Given the description of an element on the screen output the (x, y) to click on. 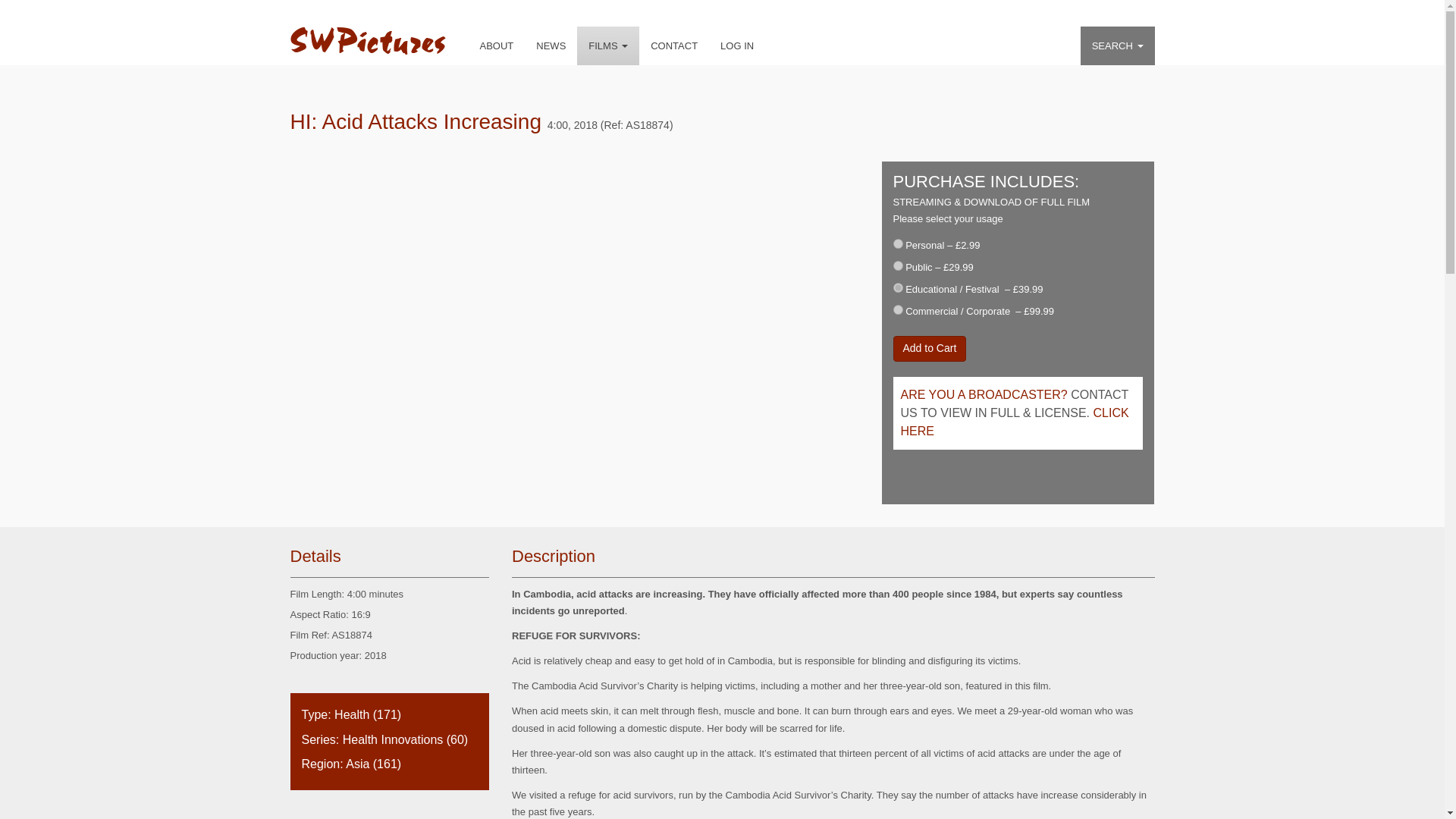
Add to Cart (929, 348)
Logout (737, 45)
LOG IN (737, 45)
3 (897, 287)
4 (897, 309)
SEARCH (1117, 45)
2 (897, 266)
1 (897, 243)
ABOUT (496, 45)
CONTACT (674, 45)
